Given the description of an element on the screen output the (x, y) to click on. 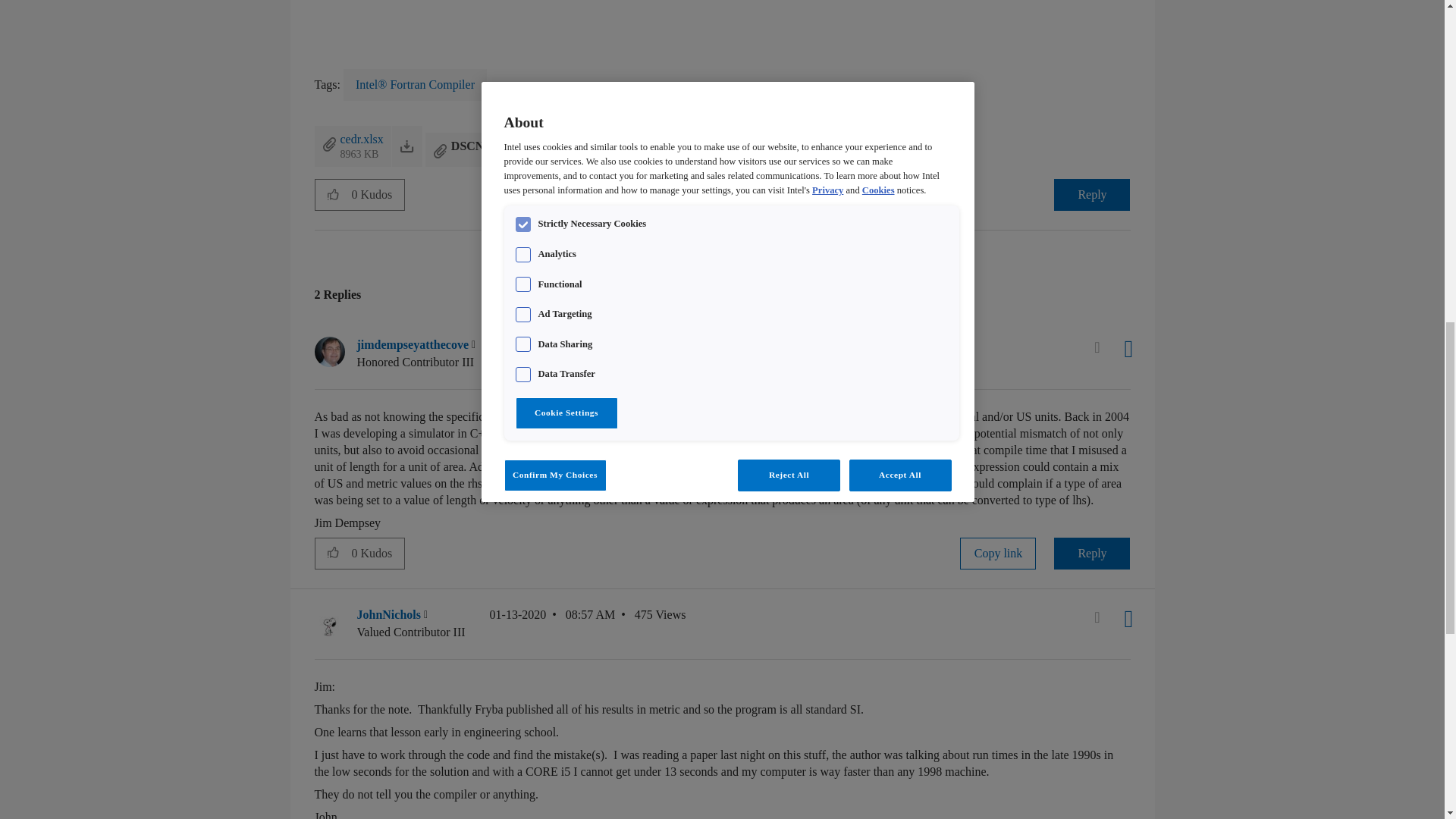
Attachment (328, 143)
Download attachment (545, 150)
Attachment (440, 150)
The total number of kudos this post has received. (377, 194)
Visual studio to work with the Parallel Studio XE 2020 (731, 250)
Click here to give kudos to this post. (332, 193)
Download attachment (406, 145)
